Given the description of an element on the screen output the (x, y) to click on. 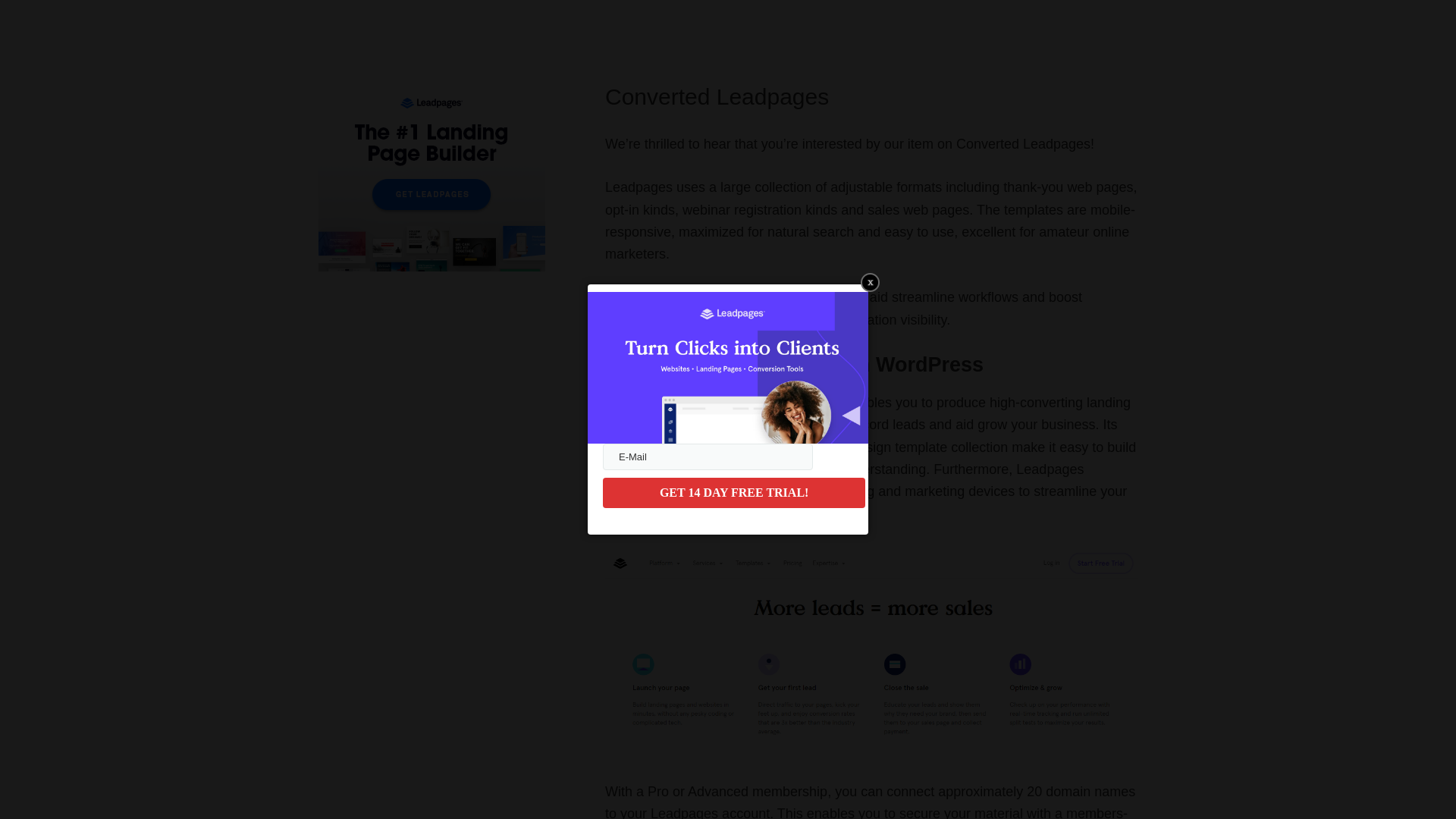
GET 14 DAY FREE TRIAL! (733, 492)
GET 14 DAY FREE TRIAL! (733, 492)
